Given the description of an element on the screen output the (x, y) to click on. 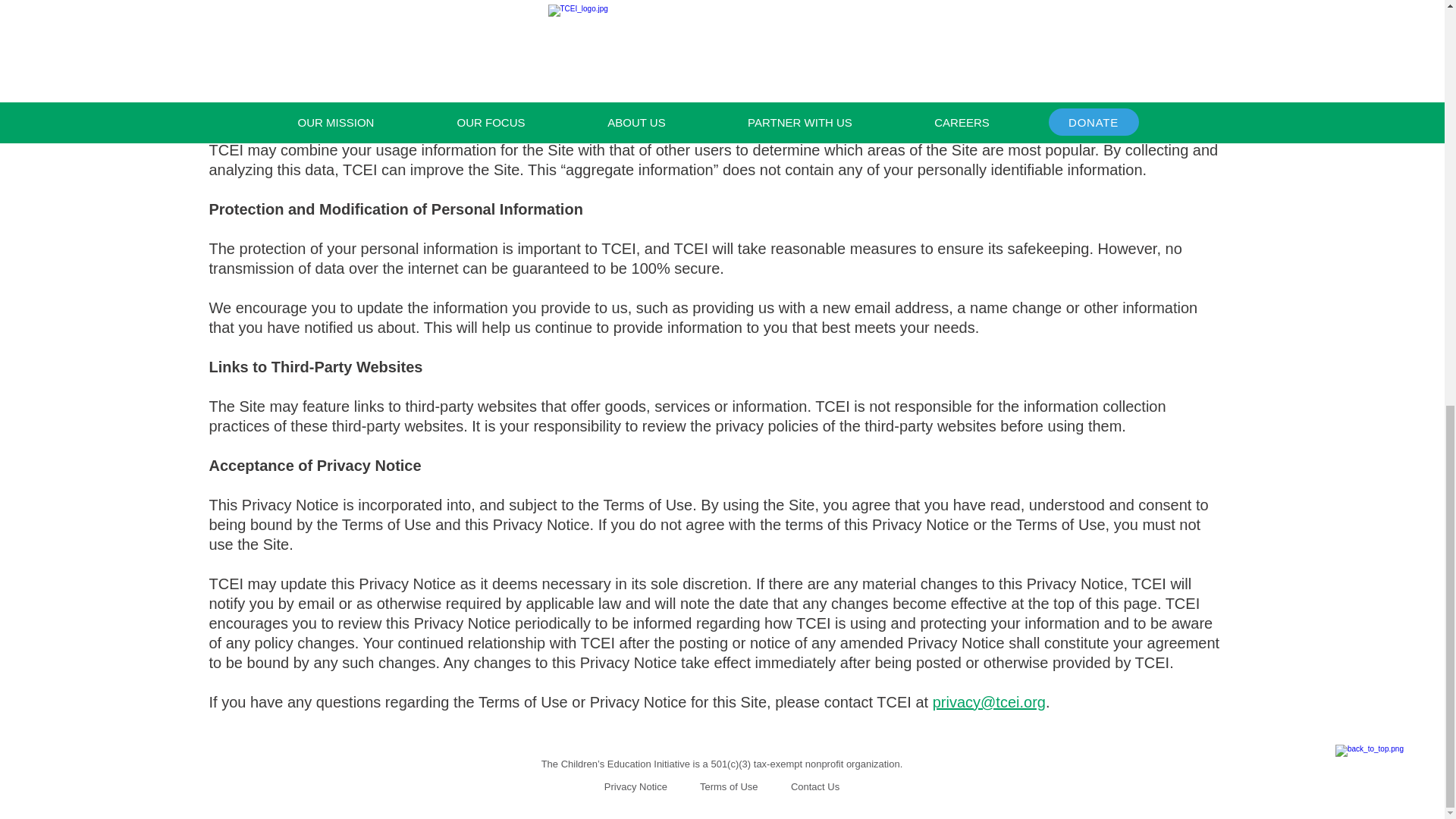
Contact Us (813, 786)
Privacy Notice (635, 786)
Terms of Use (727, 786)
